Given the description of an element on the screen output the (x, y) to click on. 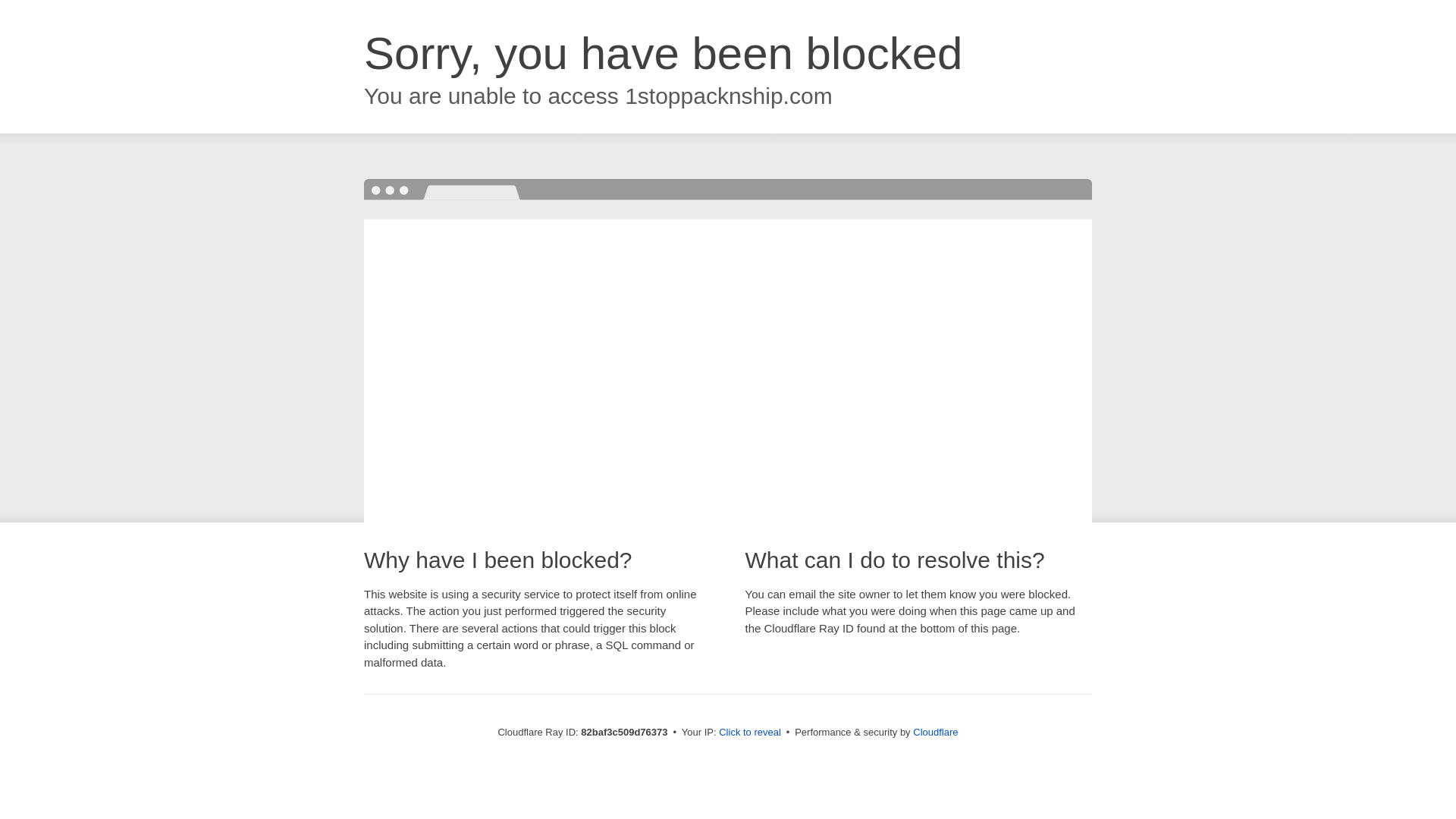
Click to reveal Element type: text (749, 732)
Cloudflare Element type: text (935, 731)
